Given the description of an element on the screen output the (x, y) to click on. 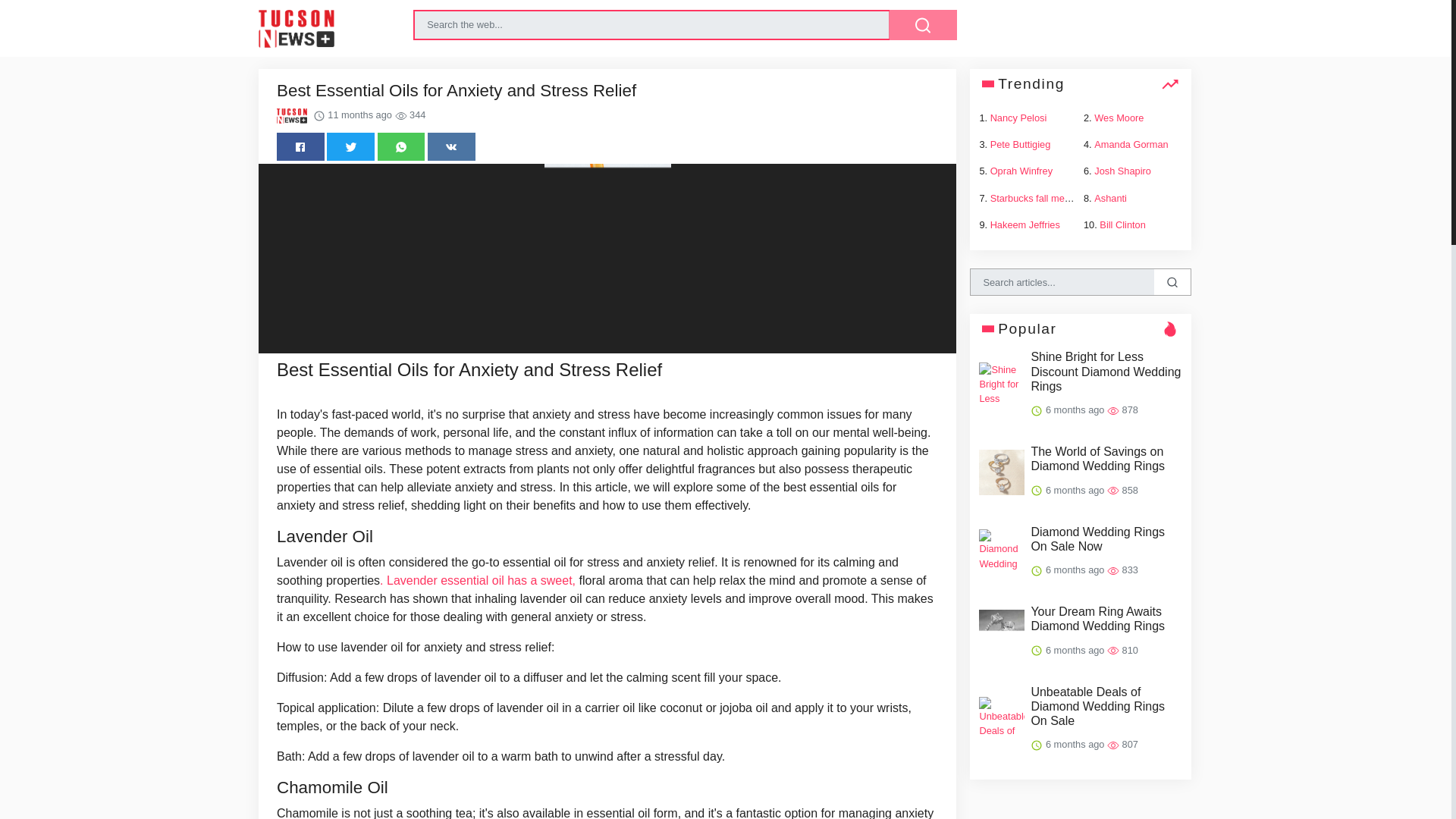
Oprah Winfrey (1021, 171)
Bill Clinton (1121, 224)
Josh Shapiro (1122, 171)
Send via Whatsapp (401, 146)
Ashanti (1110, 197)
Hakeem Jeffries (1024, 224)
Starbucks fall menu 2024 (1044, 197)
Share on VK (452, 146)
. Lavender essential oil has a sweet, (477, 580)
Share on Facebook (300, 146)
